Given the description of an element on the screen output the (x, y) to click on. 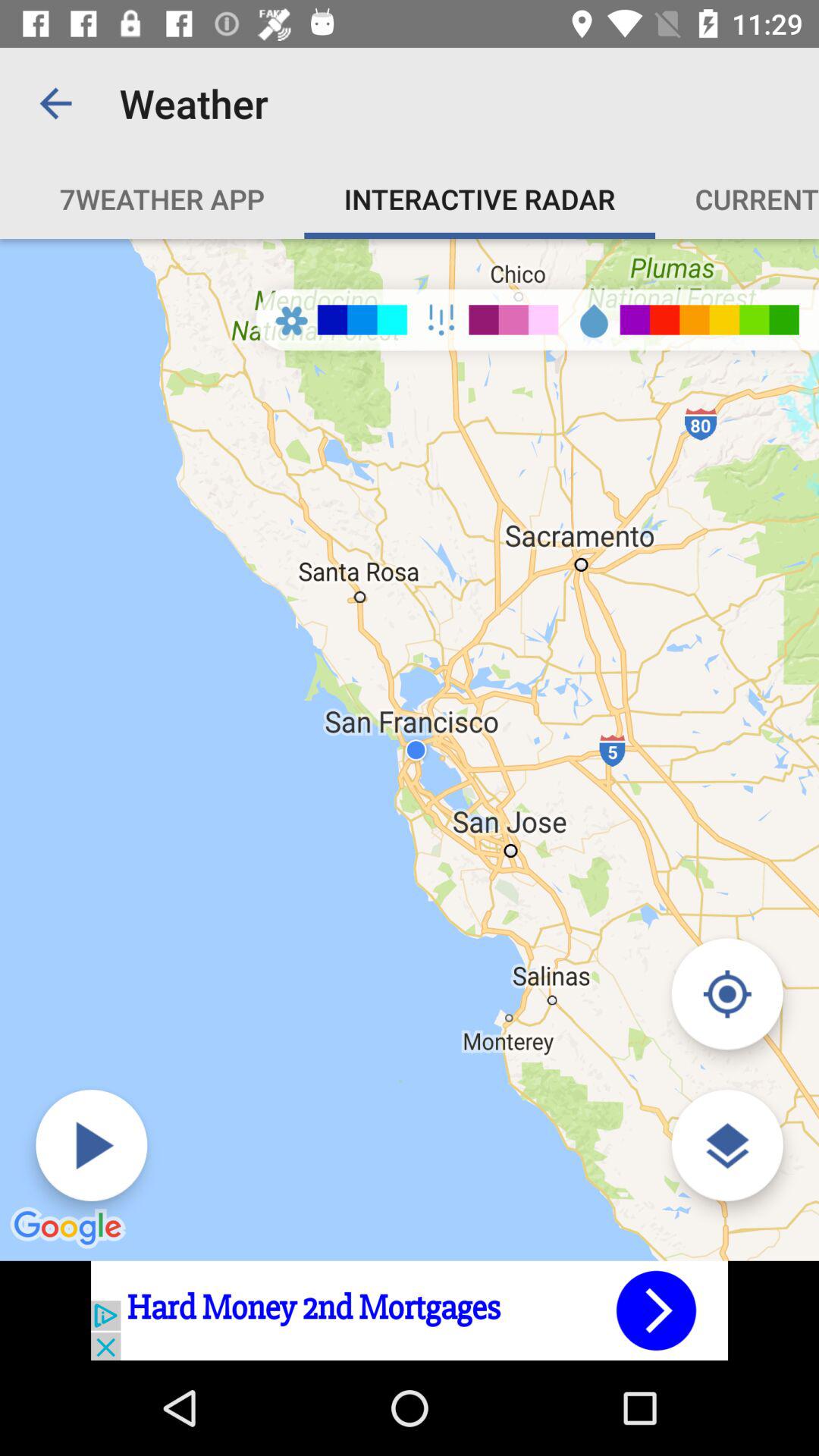
change view mode (727, 993)
